Given the description of an element on the screen output the (x, y) to click on. 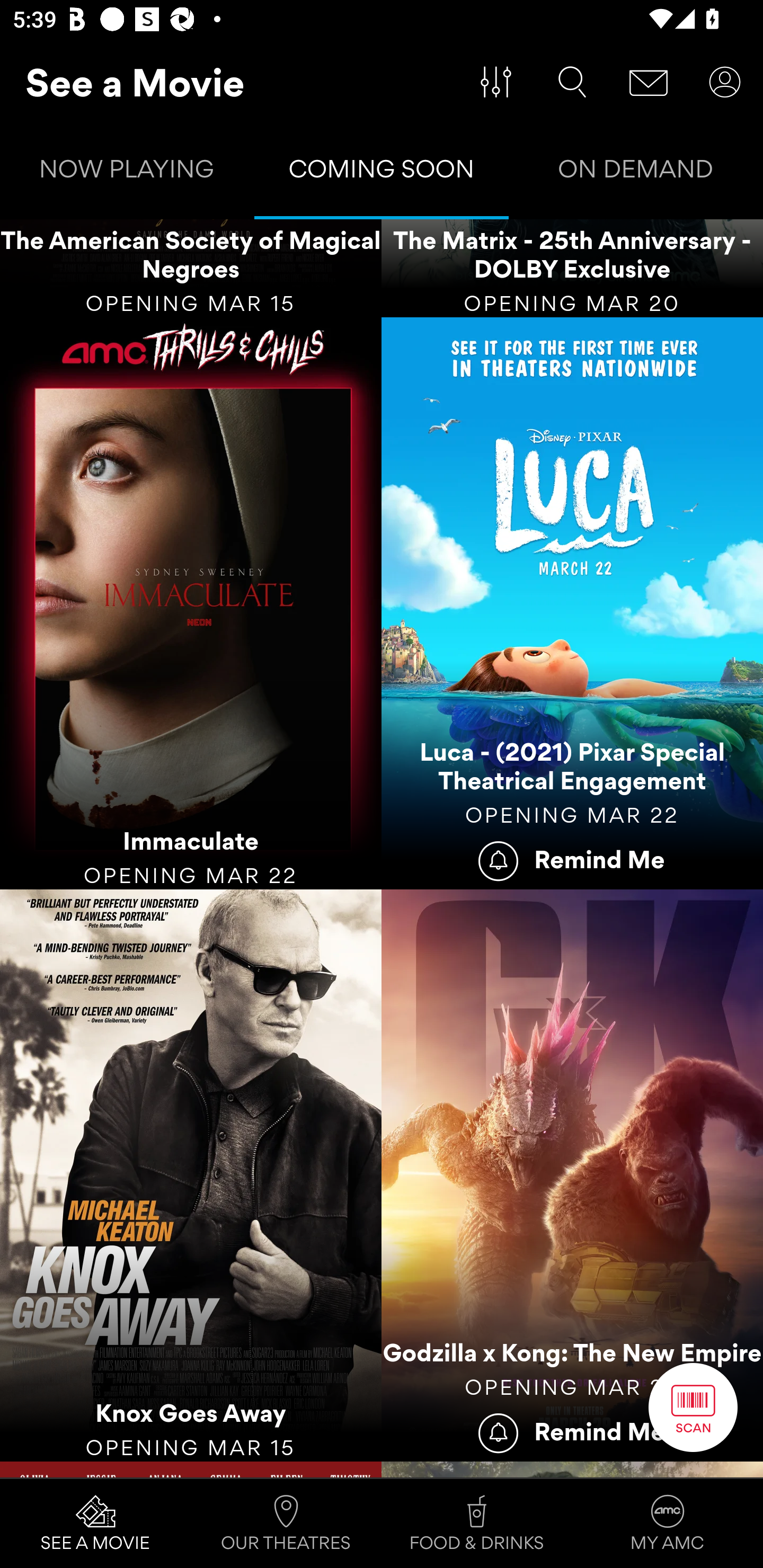
Filter Movies (495, 82)
Search (572, 82)
Message Center (648, 82)
User Account (724, 82)
NOW PLAYING
Tab 1 of 3 (127, 173)
COMING SOON
Tab 2 of 3 (381, 173)
ON DEMAND
Tab 3 of 3 (635, 173)
Immaculate
OPENING MAR 22 (190, 602)
Remind Me (572, 859)
Knox Goes Away
OPENING MAR 15 (190, 1175)
Scan Button (692, 1406)
Remind Me (572, 1431)
SEE A MOVIE
Tab 1 of 4 (95, 1523)
OUR THEATRES
Tab 2 of 4 (285, 1523)
FOOD & DRINKS
Tab 3 of 4 (476, 1523)
MY AMC
Tab 4 of 4 (667, 1523)
